Given the description of an element on the screen output the (x, y) to click on. 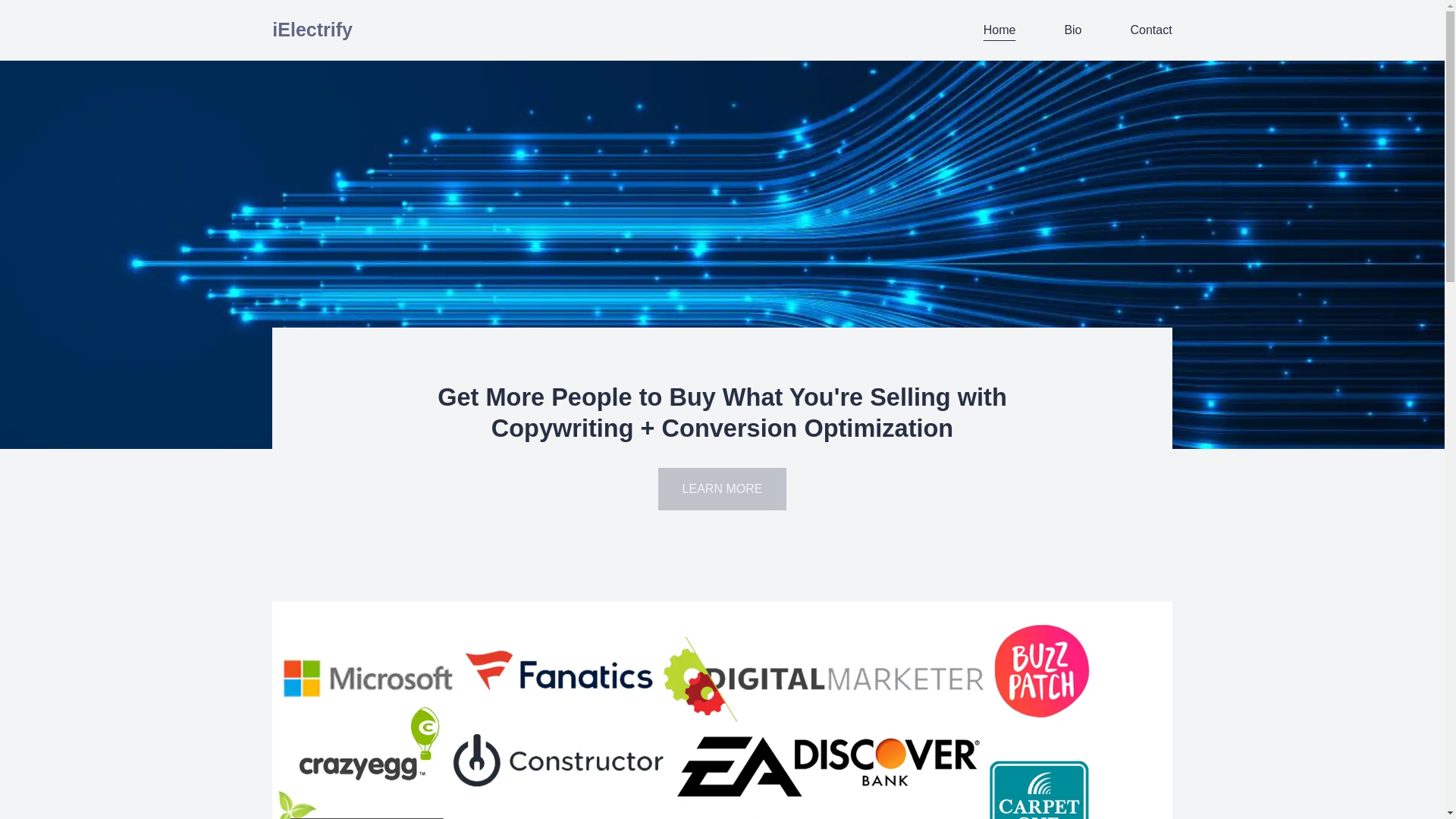
LEARN MORE (722, 488)
Contact (1150, 30)
iElectrify (312, 30)
Bio (1072, 30)
Home (1000, 30)
